Given the description of an element on the screen output the (x, y) to click on. 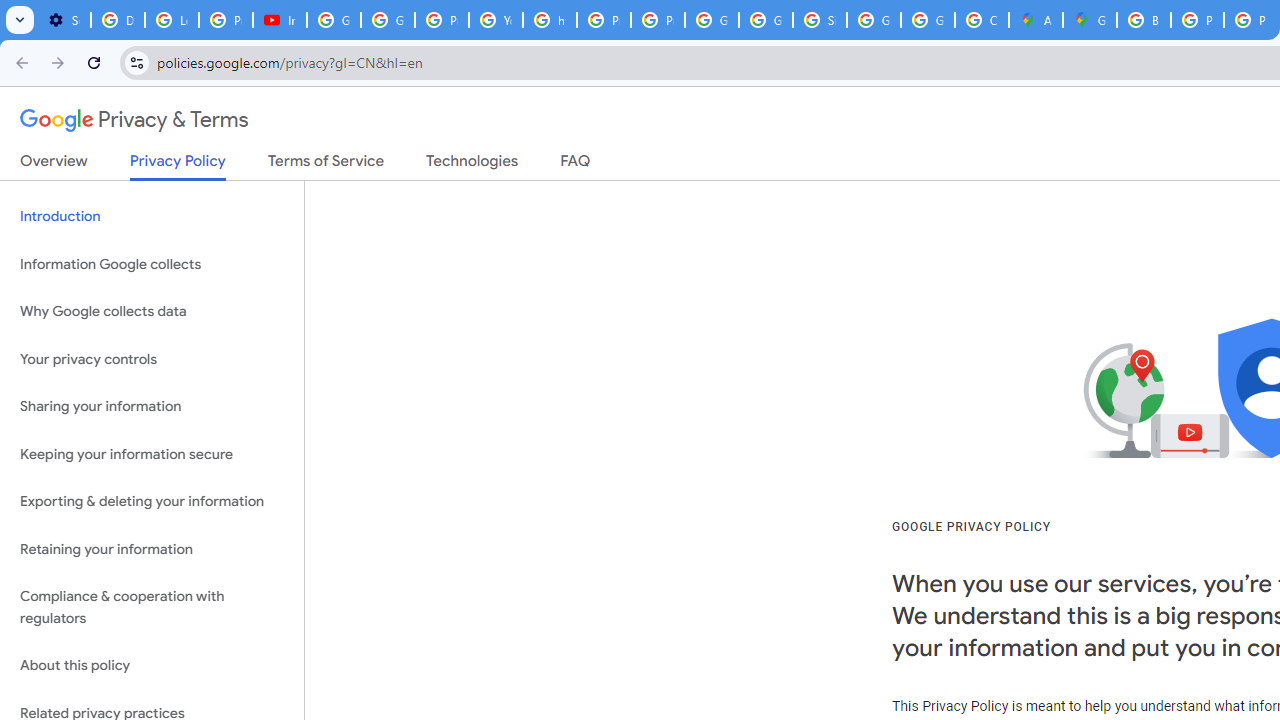
FAQ (575, 165)
